Given the description of an element on the screen output the (x, y) to click on. 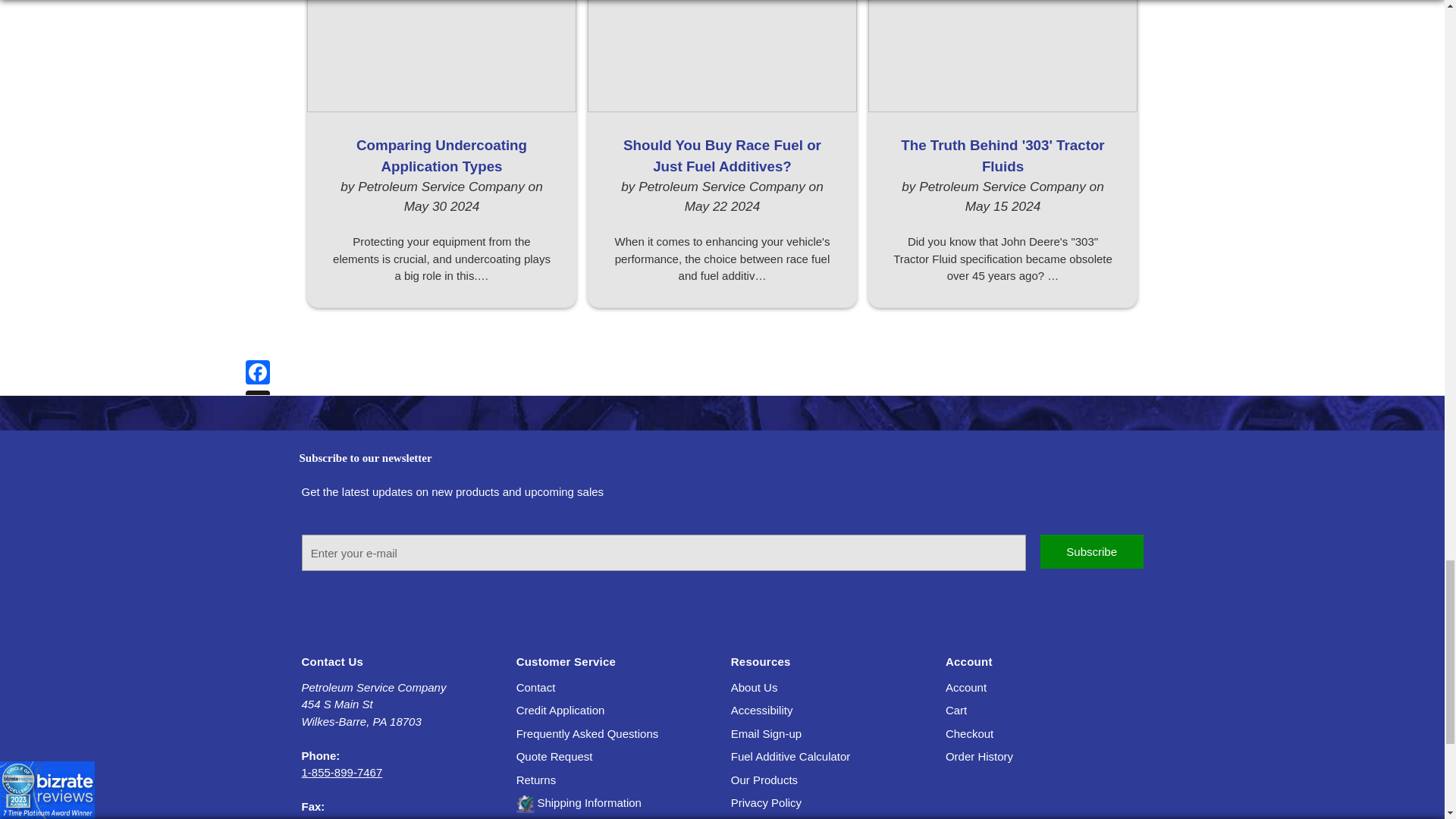
email sign-up (766, 733)
Subscribe (1091, 551)
frequently asked questions (587, 733)
quote request (554, 756)
shipping information (579, 802)
returns (536, 779)
credit application (560, 709)
about us (753, 686)
privacy policy (766, 802)
our products (763, 779)
